Given the description of an element on the screen output the (x, y) to click on. 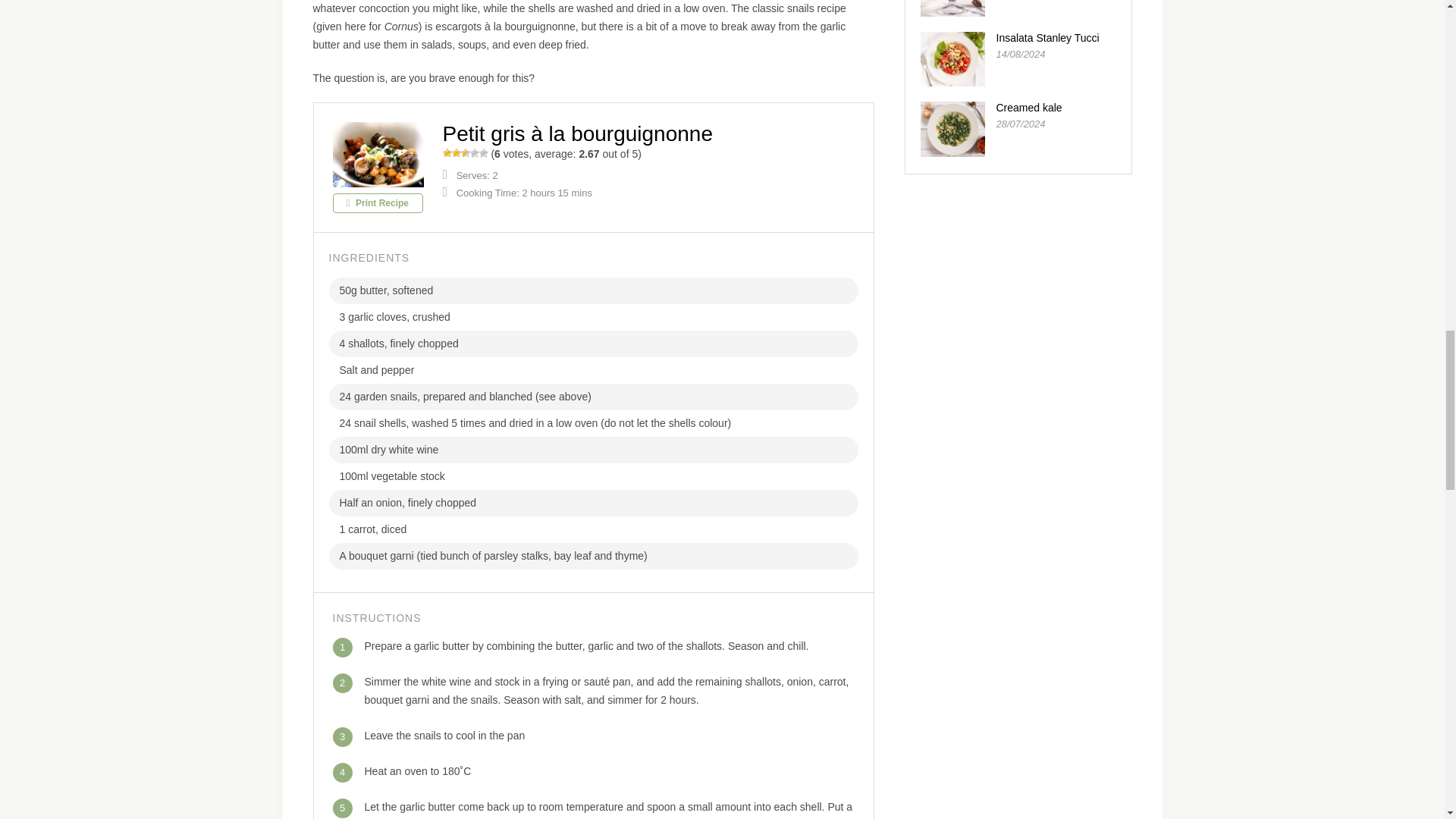
Print Recipe (376, 202)
2 Stars (456, 153)
5 Stars (483, 153)
4 Stars (474, 153)
1 Star (446, 153)
3 Stars (465, 153)
